Given the description of an element on the screen output the (x, y) to click on. 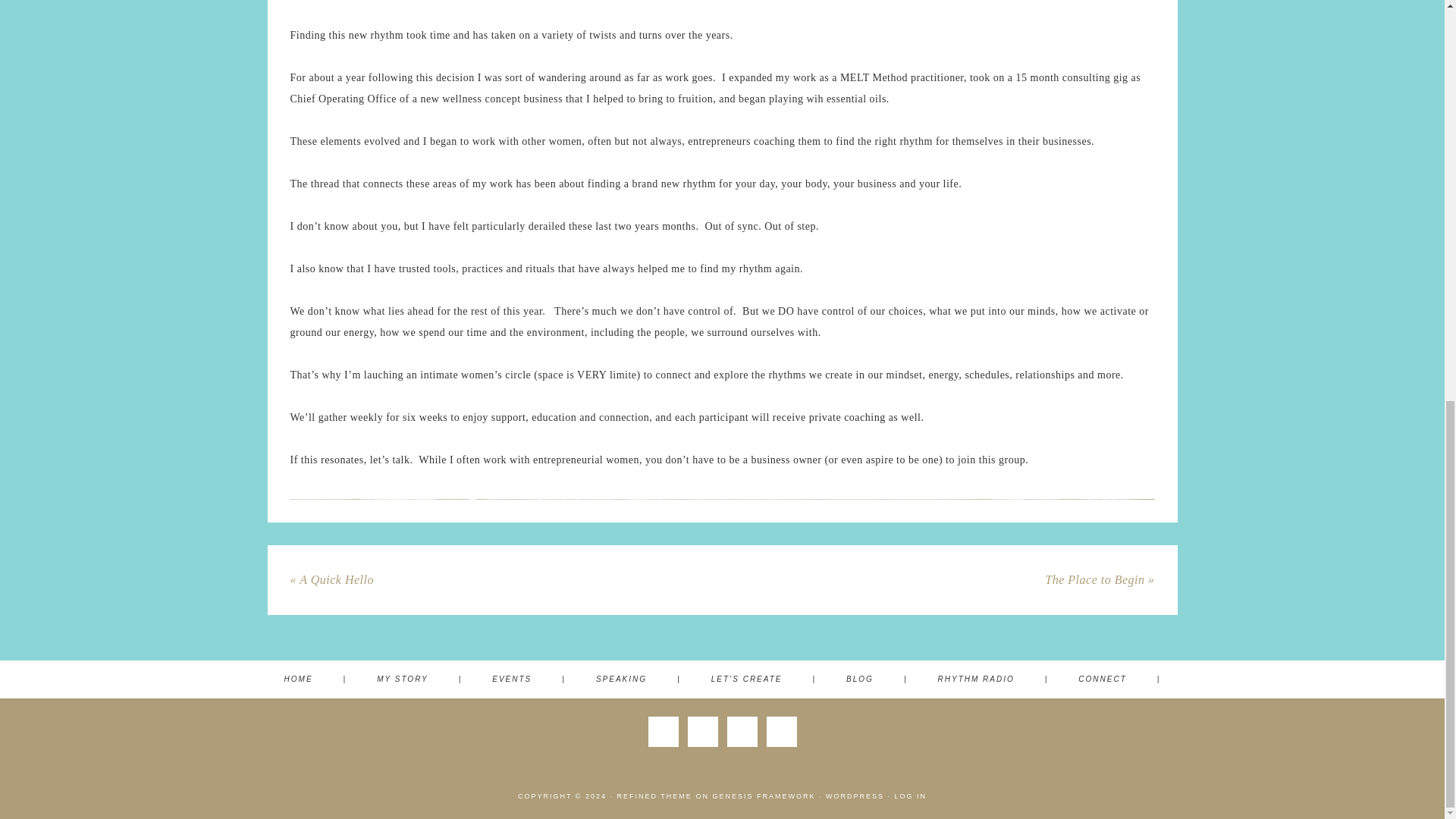
WORDPRESS (854, 796)
MY STORY (419, 679)
GENESIS FRAMEWORK (763, 796)
RHYTHM RADIO (993, 679)
LOG IN (909, 796)
REFINED THEME (655, 796)
HOME (315, 679)
BLOG (876, 679)
CONNECT (1118, 679)
EVENTS (528, 679)
